Given the description of an element on the screen output the (x, y) to click on. 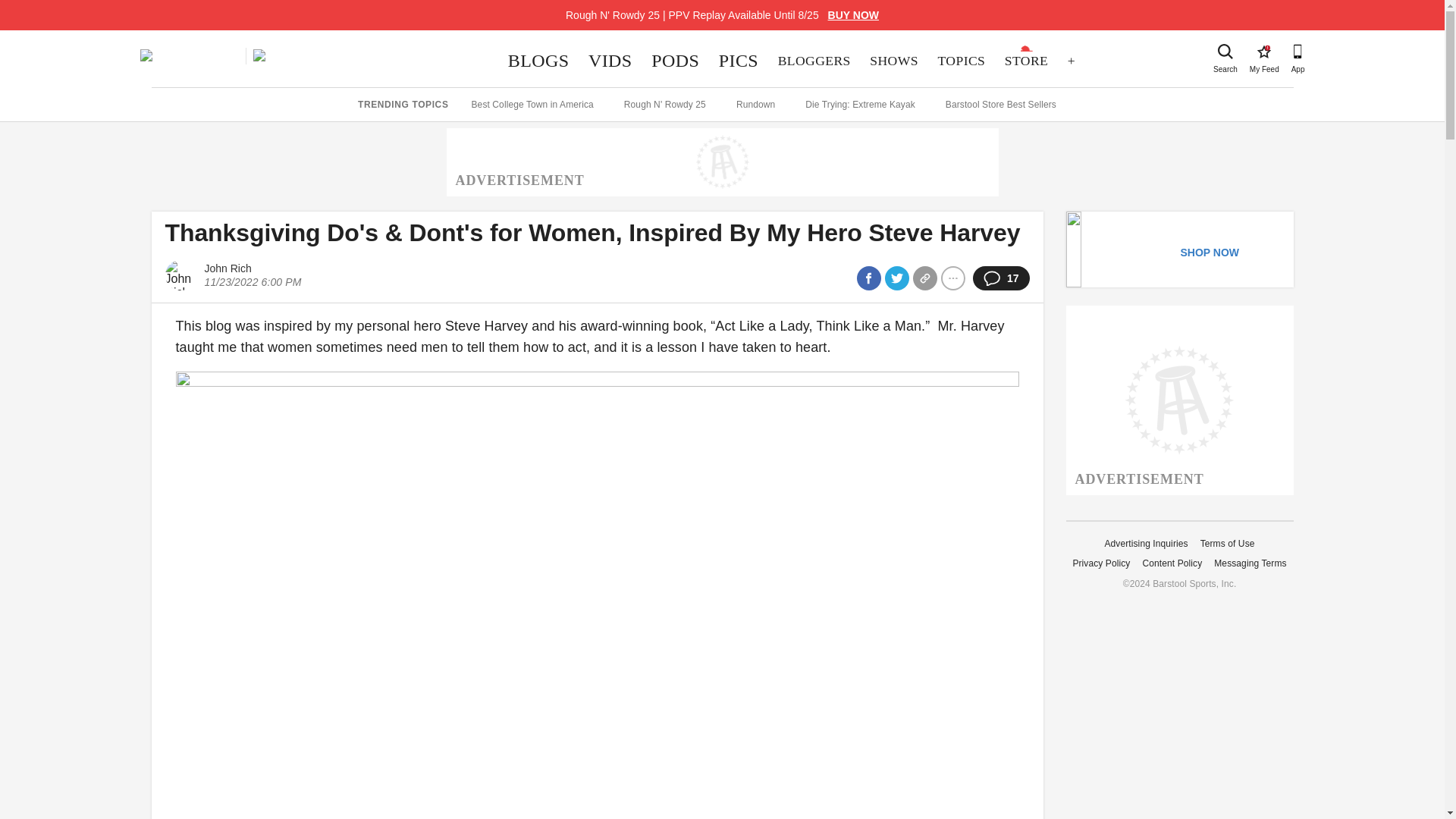
PODS (1263, 51)
Search (675, 60)
BUY NOW (1225, 51)
SHOWS (853, 15)
VIDS (894, 60)
STORE (610, 60)
BLOGGERS (1026, 60)
TOPICS (814, 60)
PICS (961, 60)
